Given the description of an element on the screen output the (x, y) to click on. 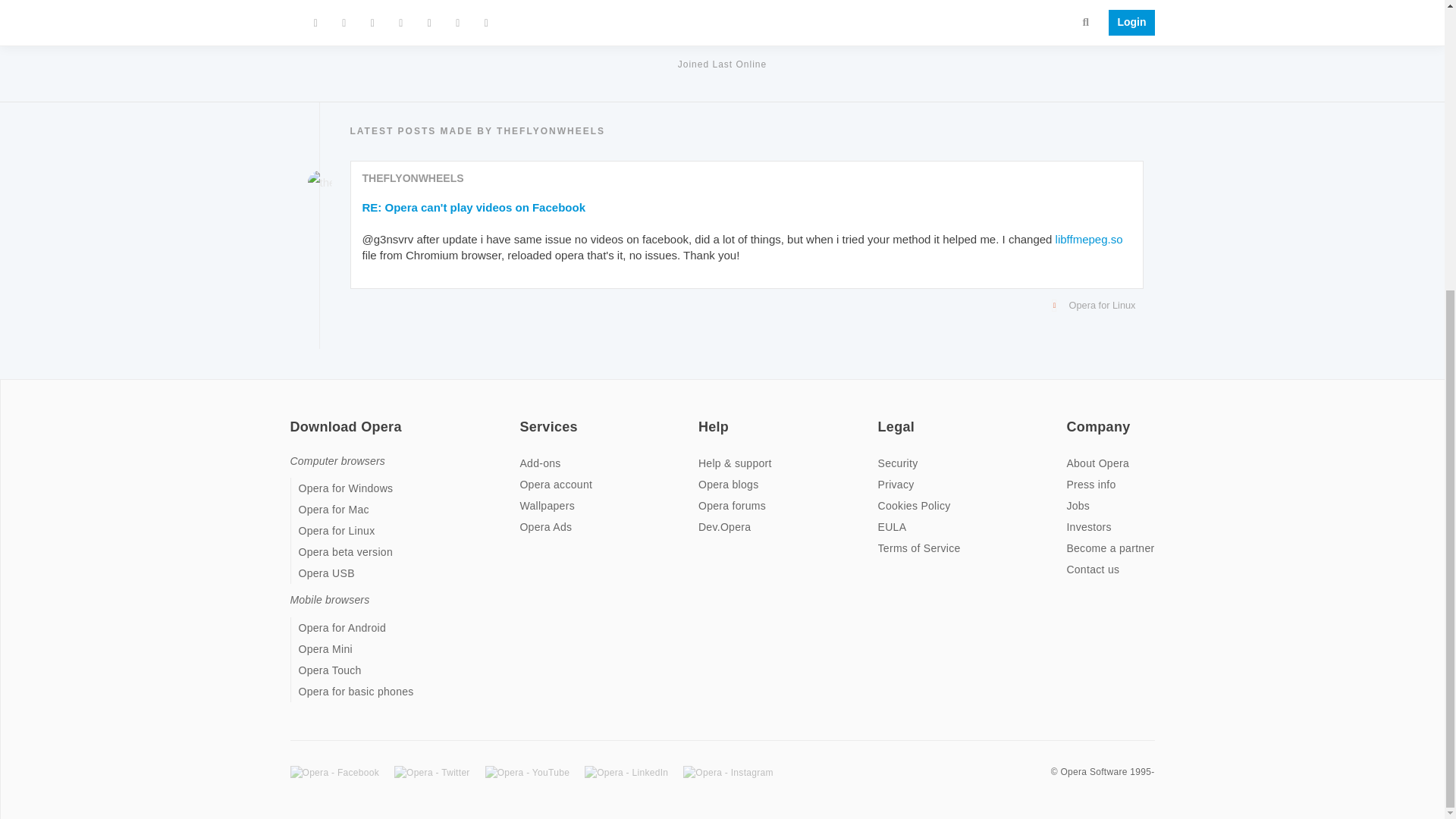
0 (447, 2)
0 (860, 2)
libffmepeg.so (1088, 238)
Computer browsers (337, 460)
on (702, 416)
0 (996, 2)
Opera for Linux (742, 305)
on (881, 416)
THEFLYONWHEELS (413, 177)
on (1070, 416)
